Given the description of an element on the screen output the (x, y) to click on. 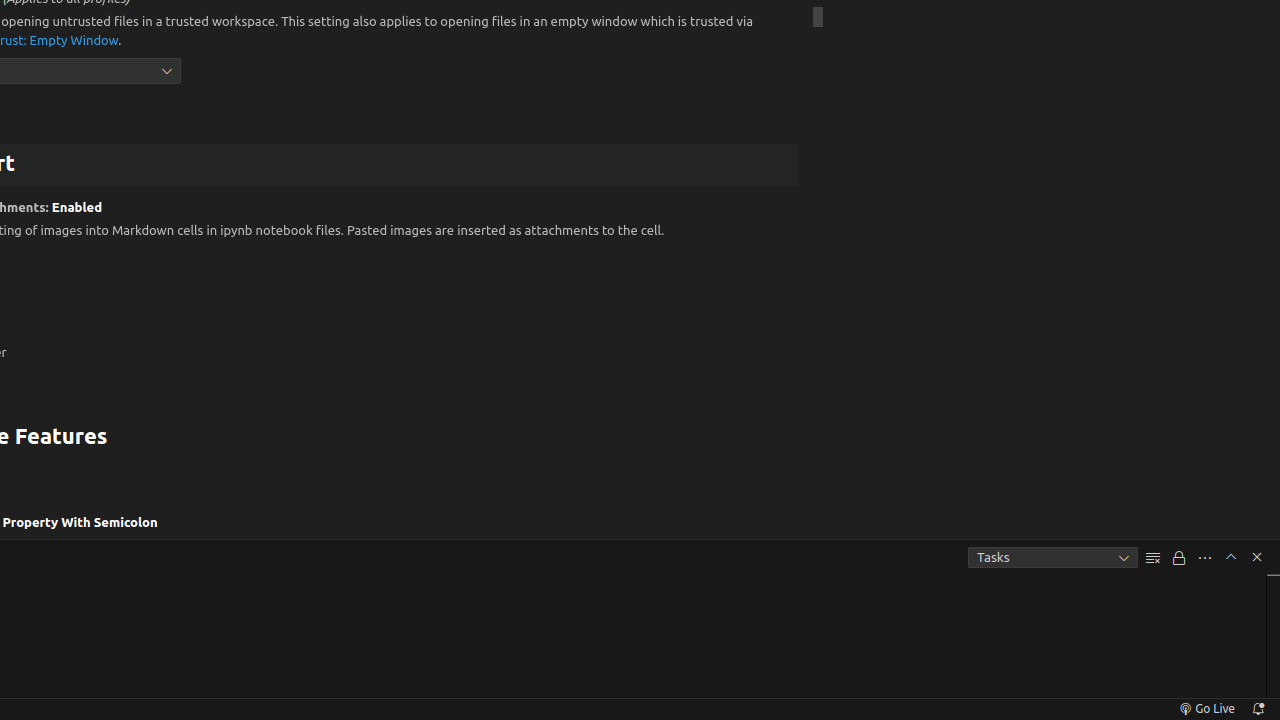
broadcast Go Live, Click to run live server Element type: push-button (1206, 709)
Clear Output Element type: push-button (1153, 557)
Maximize Panel Size Element type: check-box (1231, 557)
Views and More Actions... Element type: push-button (1205, 557)
Tasks Element type: menu-item (1053, 557)
